Given the description of an element on the screen output the (x, y) to click on. 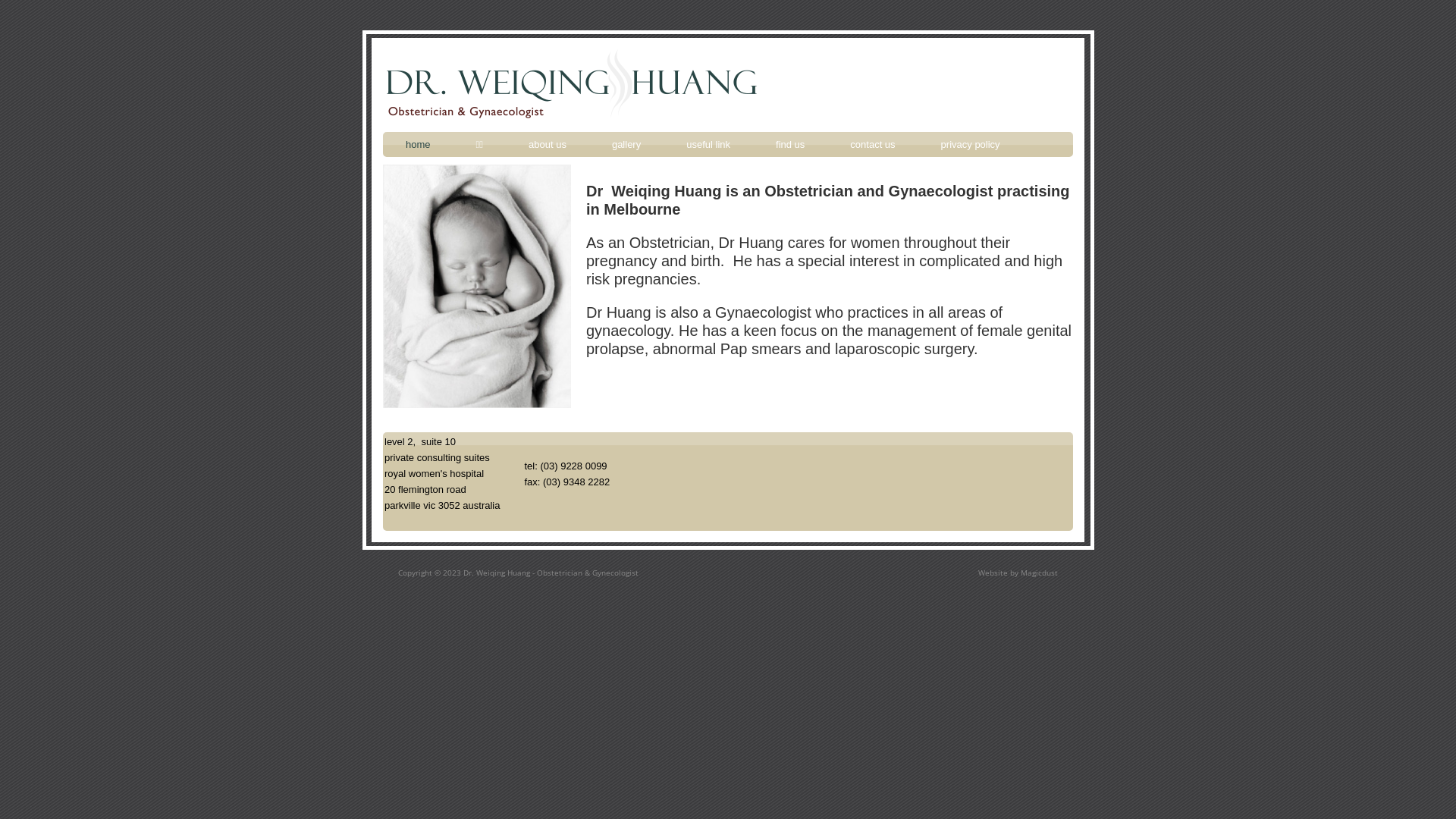
about us Element type: text (547, 143)
useful link Element type: text (708, 143)
contact us Element type: text (872, 143)
privacy policy Element type: text (970, 143)
home Element type: text (417, 143)
Magicdust Element type: text (1038, 572)
gallery Element type: text (626, 143)
dr. weiqing huang - obstetrician & gynecologist Element type: text (571, 90)
find us Element type: text (790, 143)
